Given the description of an element on the screen output the (x, y) to click on. 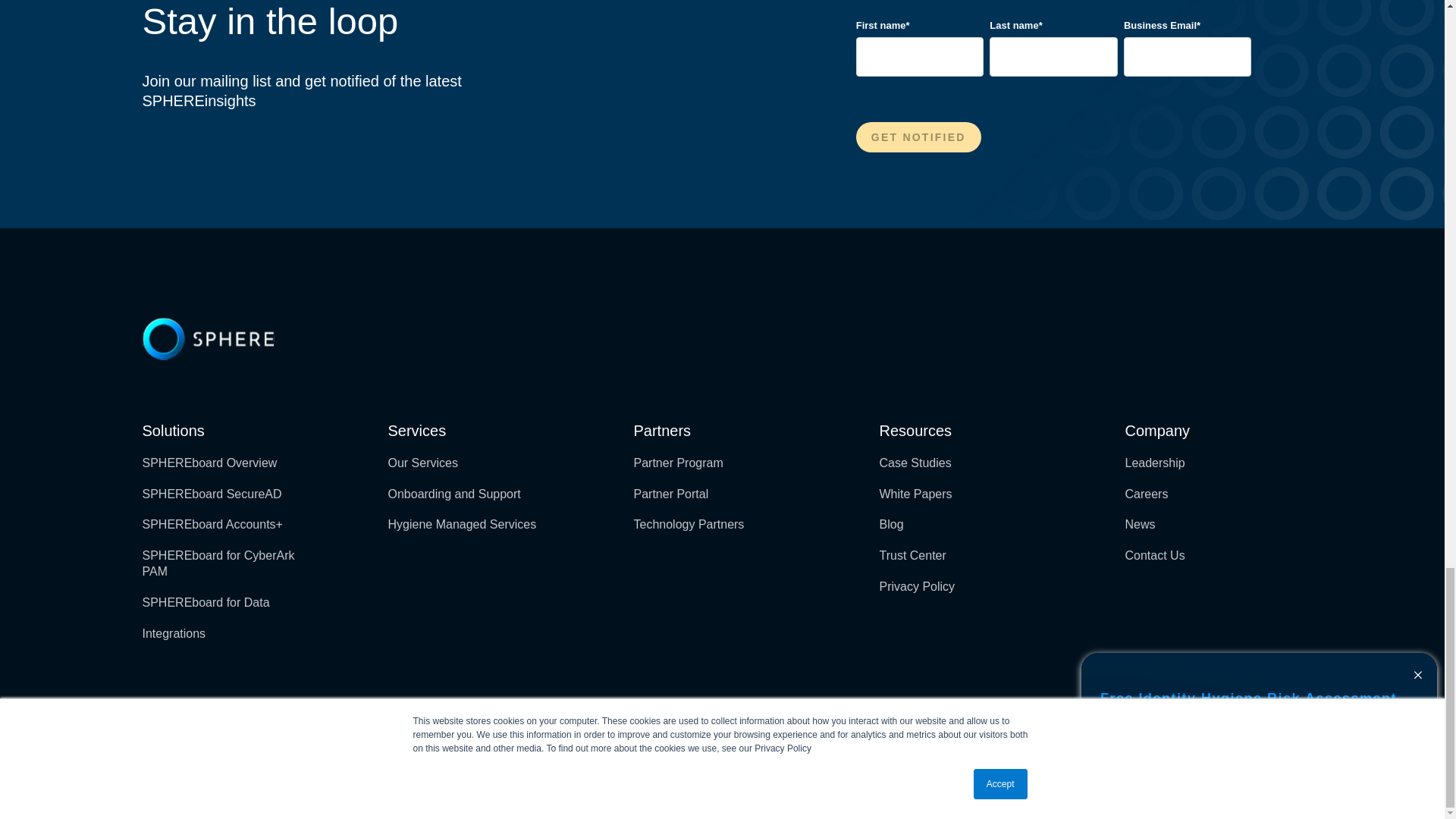
Opens in new window to LinkedIn (1268, 710)
Opens in new window to Twitter (1294, 710)
Get Notified (918, 137)
